Given the description of an element on the screen output the (x, y) to click on. 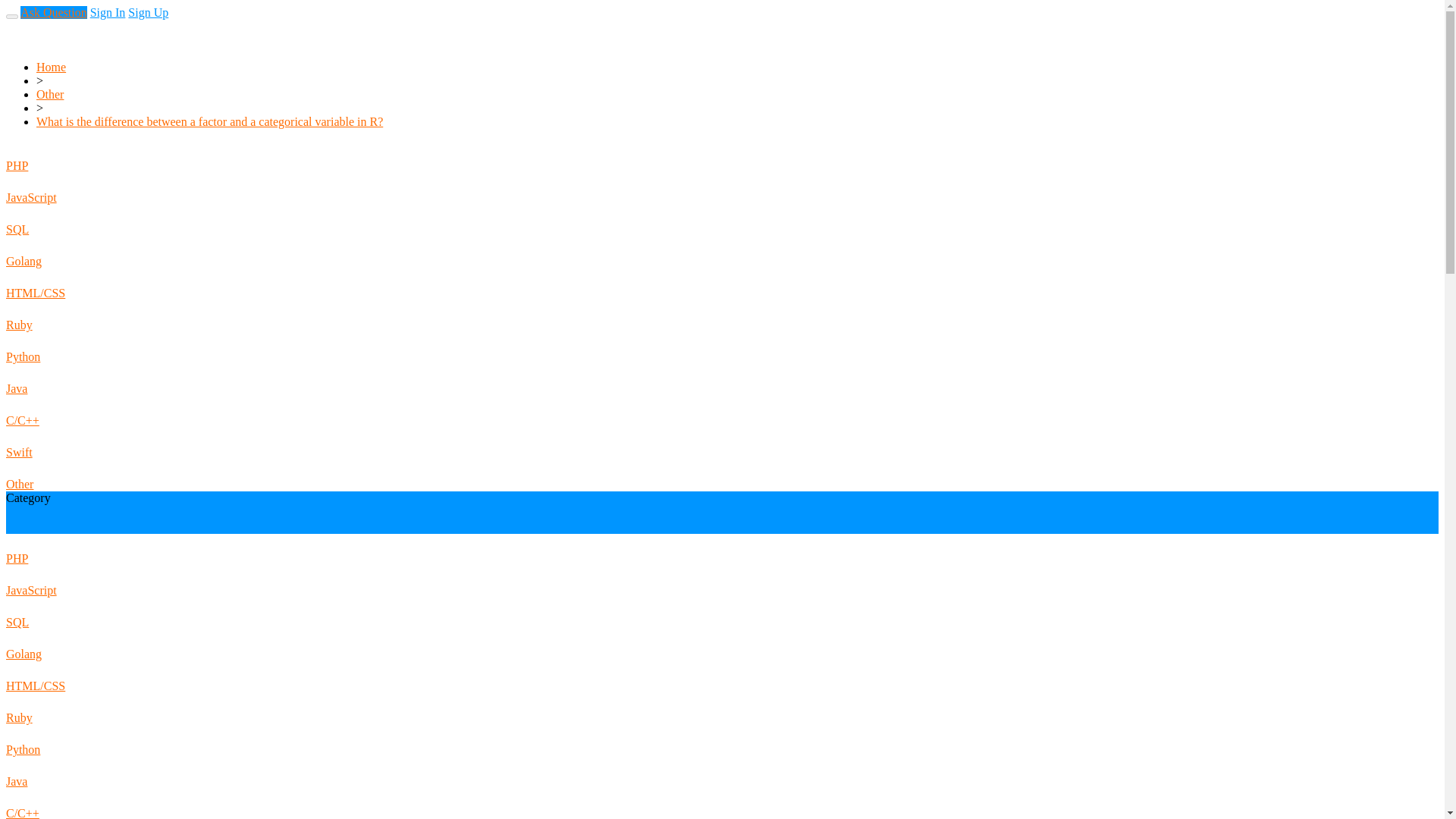
Sign Up (148, 11)
Ask Question (53, 11)
Other (50, 93)
Home (50, 66)
Sign In (107, 11)
